Given the description of an element on the screen output the (x, y) to click on. 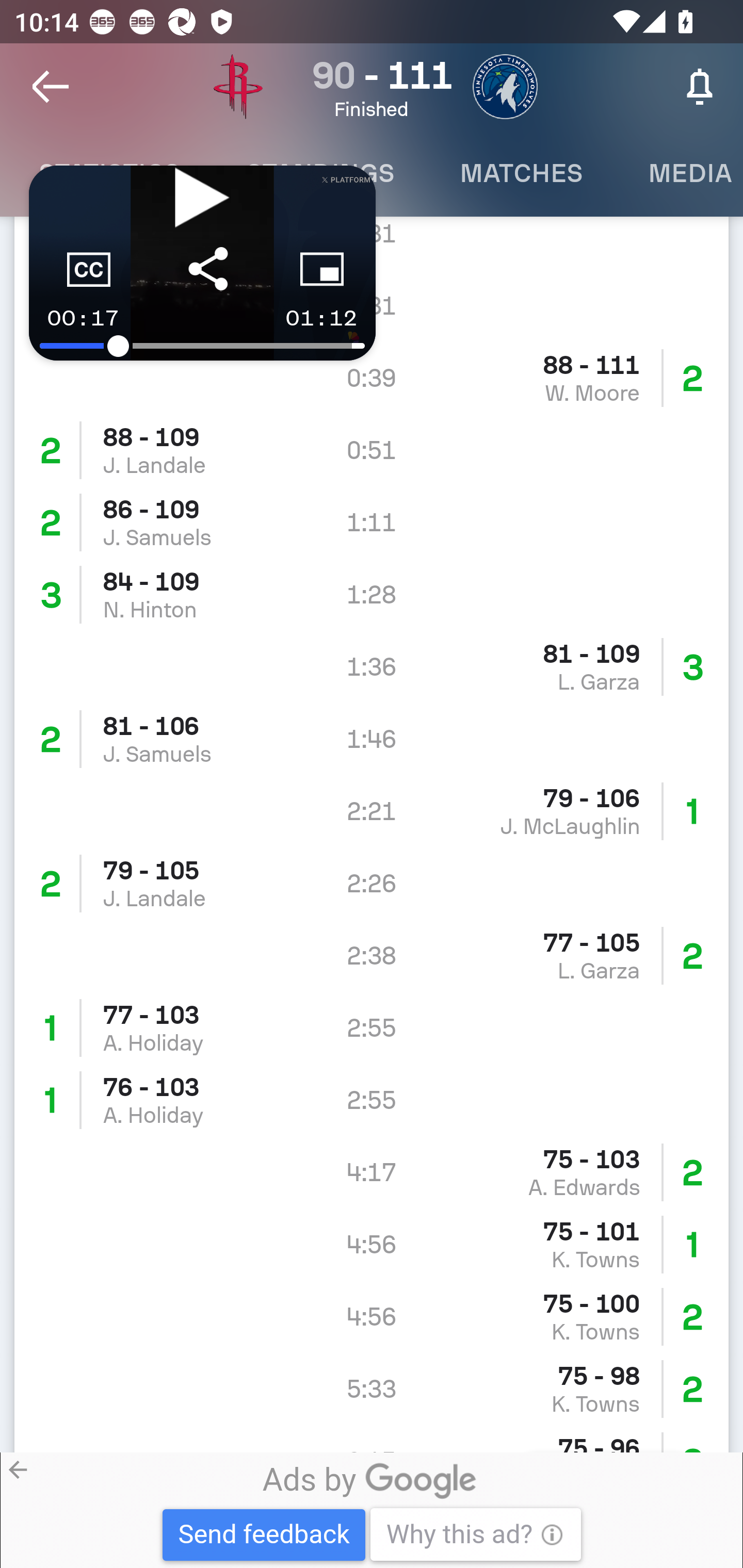
Navigate up (50, 86)
Matches MATCHES (520, 173)
Media MEDIA (679, 173)
88  -  109 J. Landale 0:51 (371, 449)
86  -  109 J. Samuels 1:11 (371, 522)
84  -  109 N. Hinton 1:28 (371, 594)
109  -  81 L. Garza 1:36 (371, 666)
81  -  106 J. Samuels 1:46 (371, 738)
106  -  79 J. McLaughlin 2:21 (371, 810)
79  -  105 J. Landale 2:26 (371, 883)
105  -  77 L. Garza 2:38 (371, 956)
77  -  103 A. Holiday 2:55 (371, 1028)
76  -  103 A. Holiday 2:55 (371, 1100)
103  -  75 A. Edwards 4:17 (371, 1172)
101  -  75 K. Towns 4:56 (371, 1244)
100  -  75 K. Towns 4:56 (371, 1317)
98  -  75 K. Towns 5:33 (371, 1389)
